Given the description of an element on the screen output the (x, y) to click on. 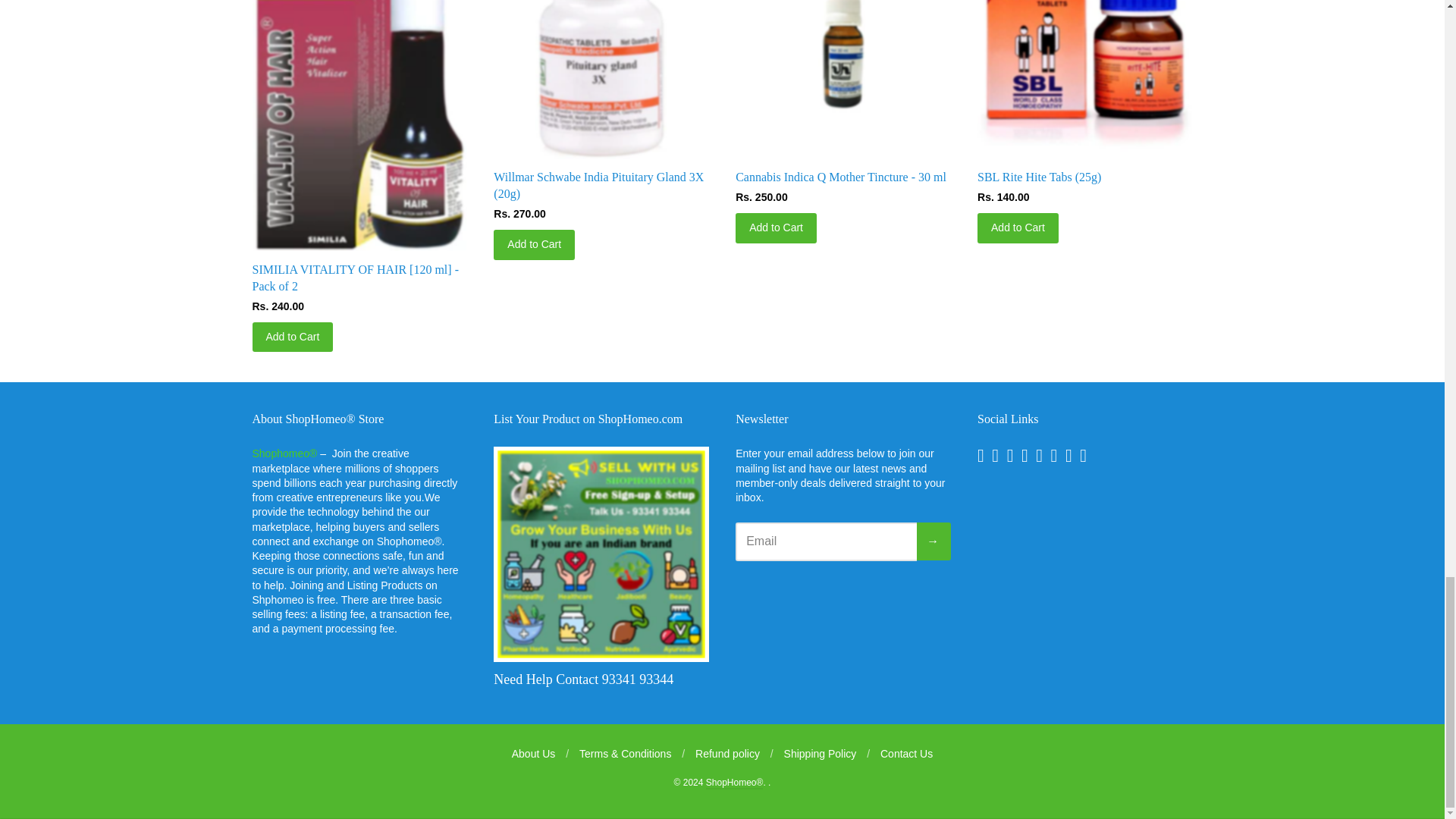
Cannabis Indica Q Mother Tincture - 30 ml (842, 79)
Cannabis Indica Q Mother Tincture - 30 ml (840, 176)
